Given the description of an element on the screen output the (x, y) to click on. 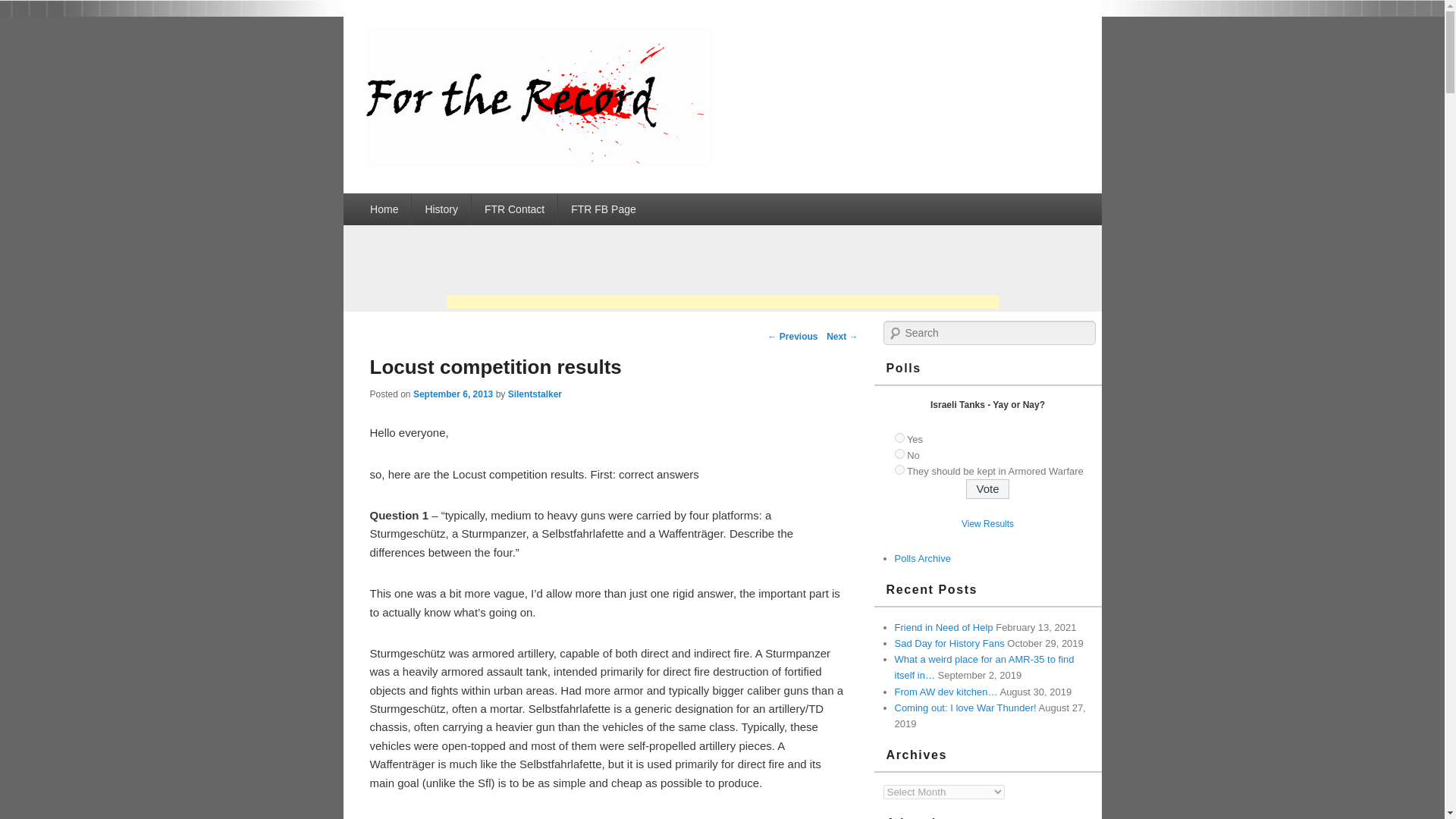
Skip to secondary content (430, 202)
240 (899, 438)
9:36 am (453, 394)
View all posts by Silentstalker (535, 394)
September 6, 2013 (453, 394)
FTR Contact (514, 209)
241 (899, 453)
View Results Of This Poll (986, 523)
Home (383, 209)
242 (899, 470)
For the Record (538, 160)
Skip to primary content (423, 202)
Skip to secondary content (430, 202)
Skip to primary content (423, 202)
For the Record (462, 45)
